Given the description of an element on the screen output the (x, y) to click on. 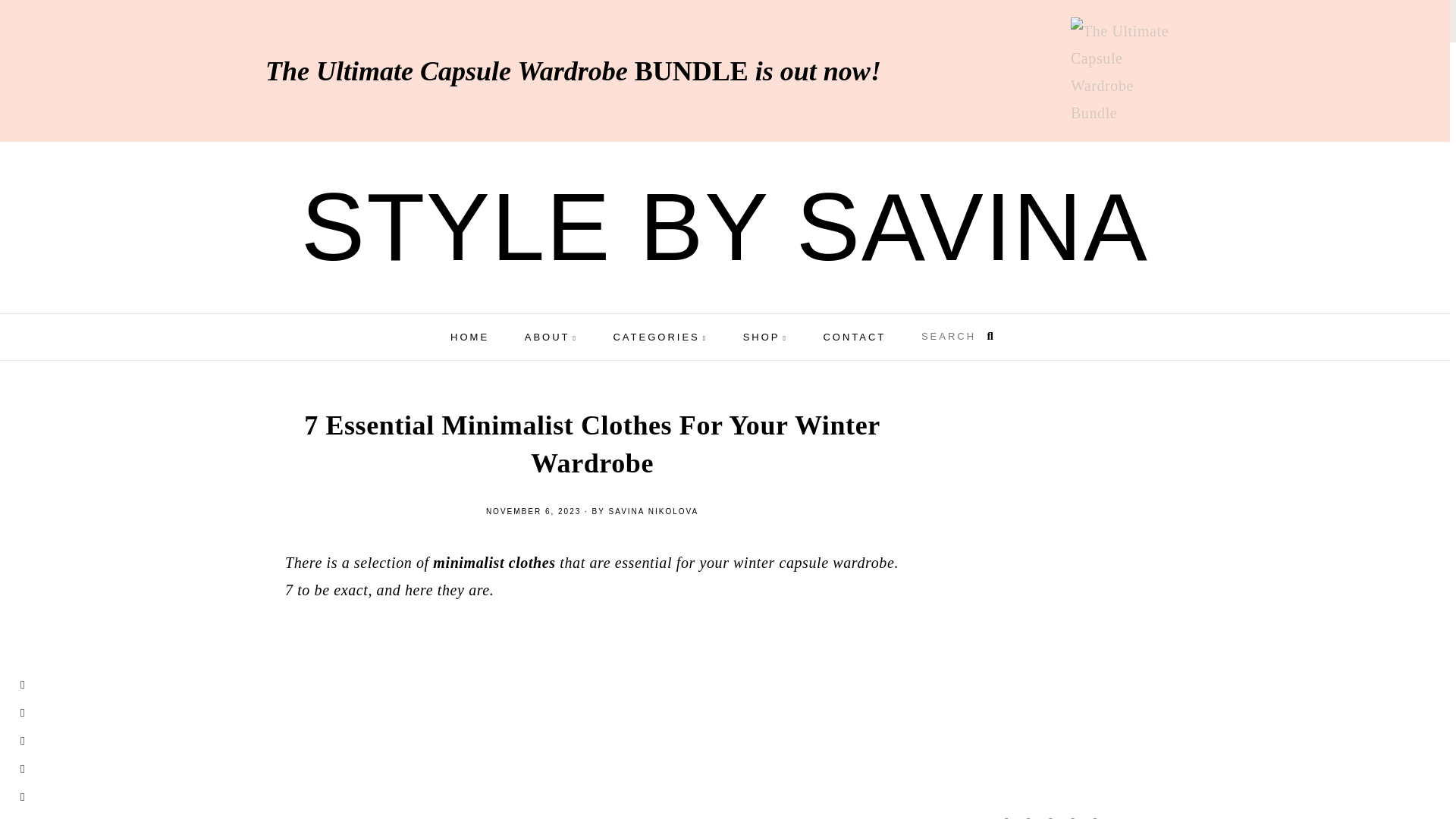
STYLE BY SAVINA (724, 226)
ABOUT (551, 336)
SHOP (764, 336)
Search (949, 336)
CONTACT (853, 336)
CATEGORIES (659, 336)
